Given the description of an element on the screen output the (x, y) to click on. 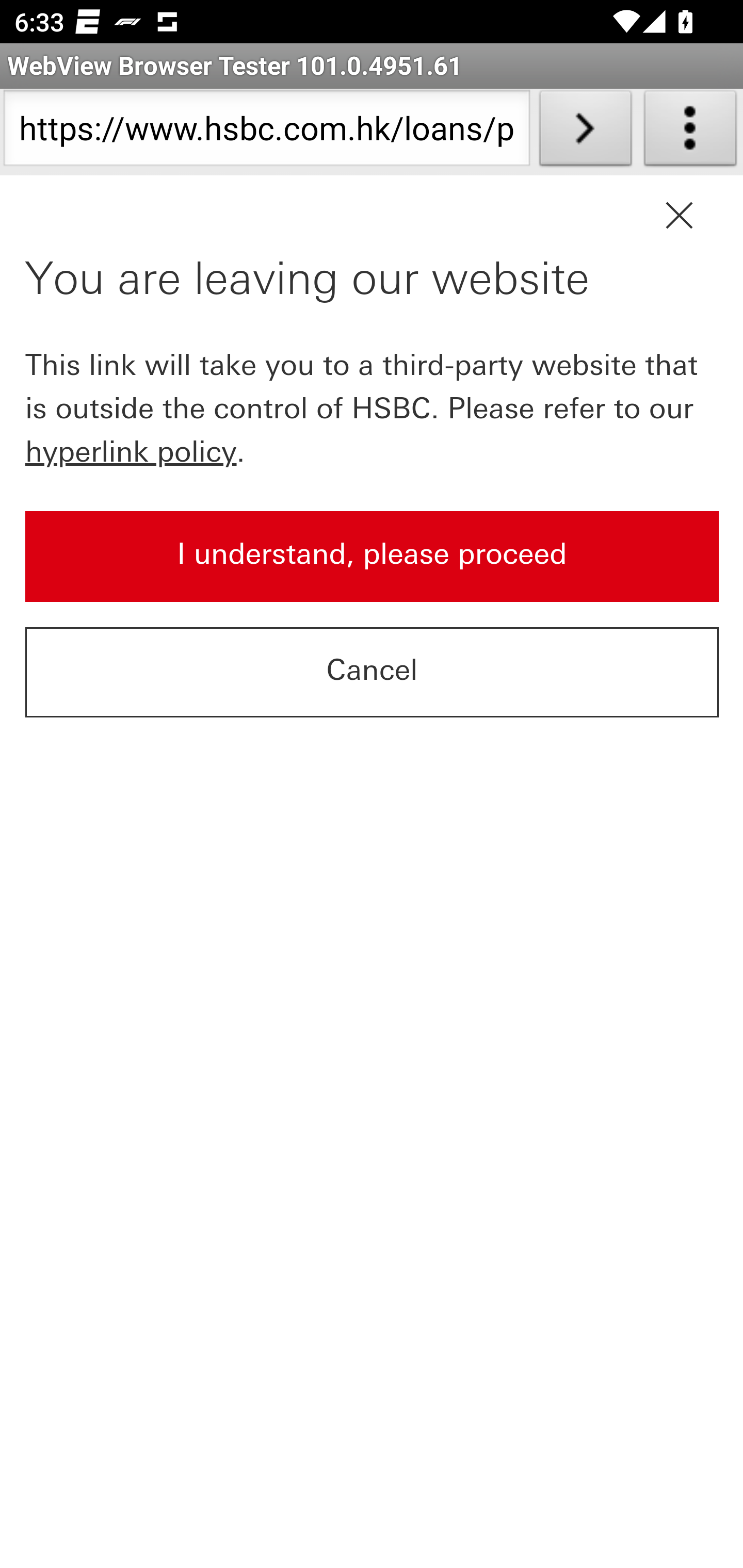
Load URL (585, 132)
About WebView (690, 132)
close modal (678, 215)
hyperlink policy (131, 450)
Cancel (372, 672)
